Given the description of an element on the screen output the (x, y) to click on. 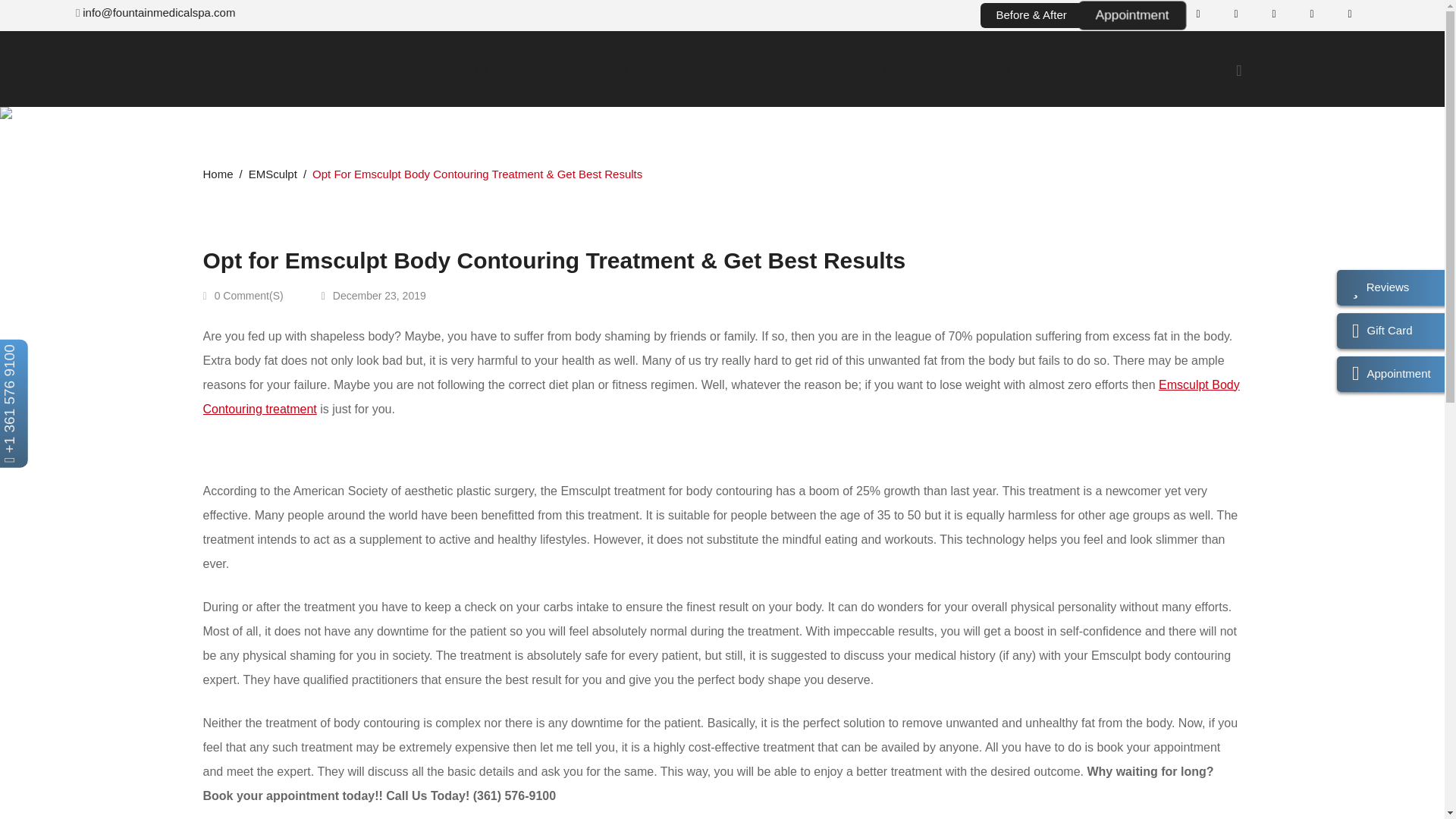
Fountain Medial SPA (279, 68)
Appointment (1131, 15)
About us (535, 69)
MedSpa Procedures (646, 69)
Home (472, 69)
